Given the description of an element on the screen output the (x, y) to click on. 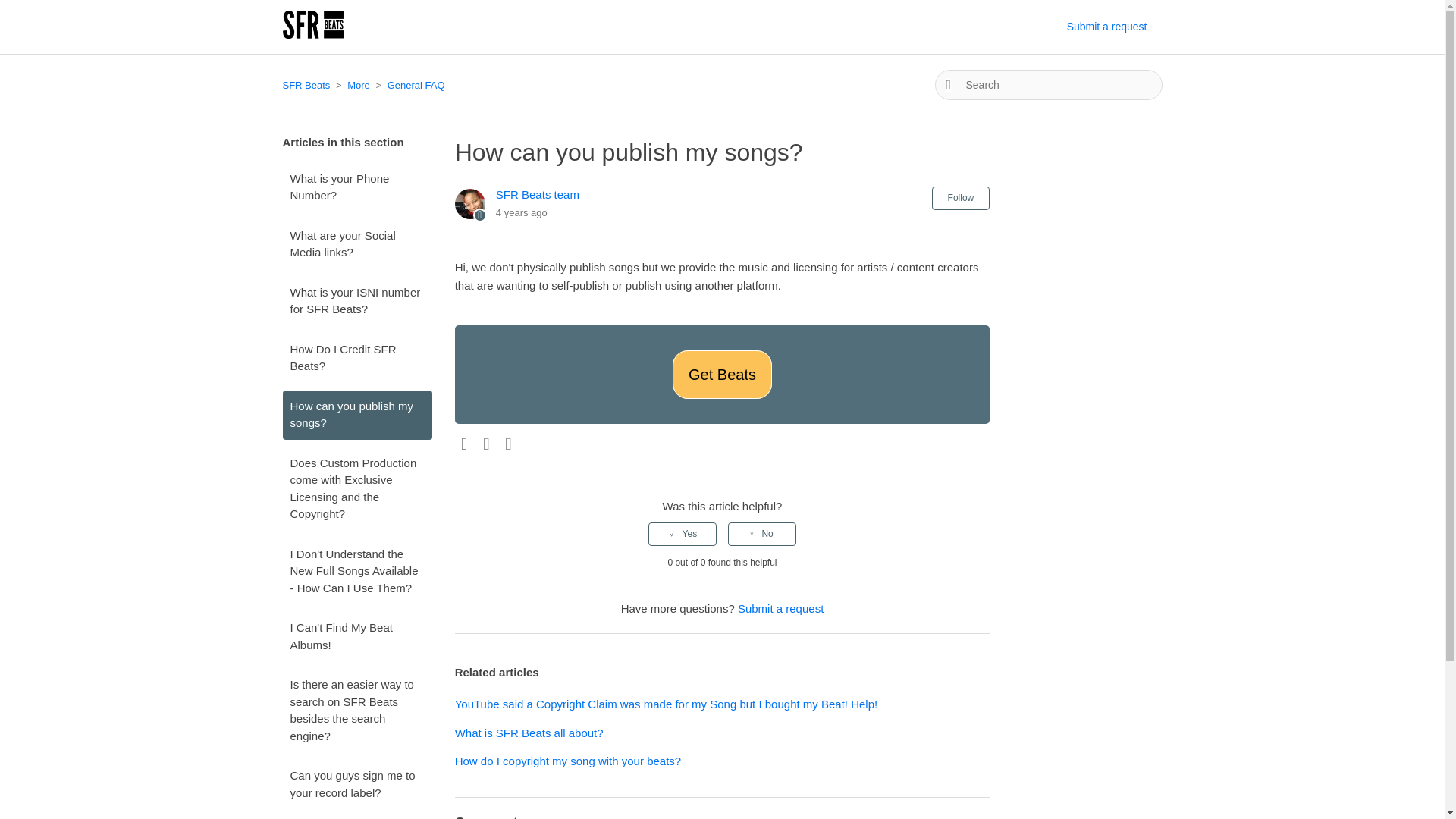
2021-01-30 02:22 (521, 212)
Follow (960, 197)
SFR Beats team (537, 194)
How can you publish my songs? (722, 152)
How Do I Credit SFR Beats? (356, 358)
Facebook (464, 444)
Submit a request (781, 608)
SFR Beats (306, 84)
Submit a request (1114, 26)
